Given the description of an element on the screen output the (x, y) to click on. 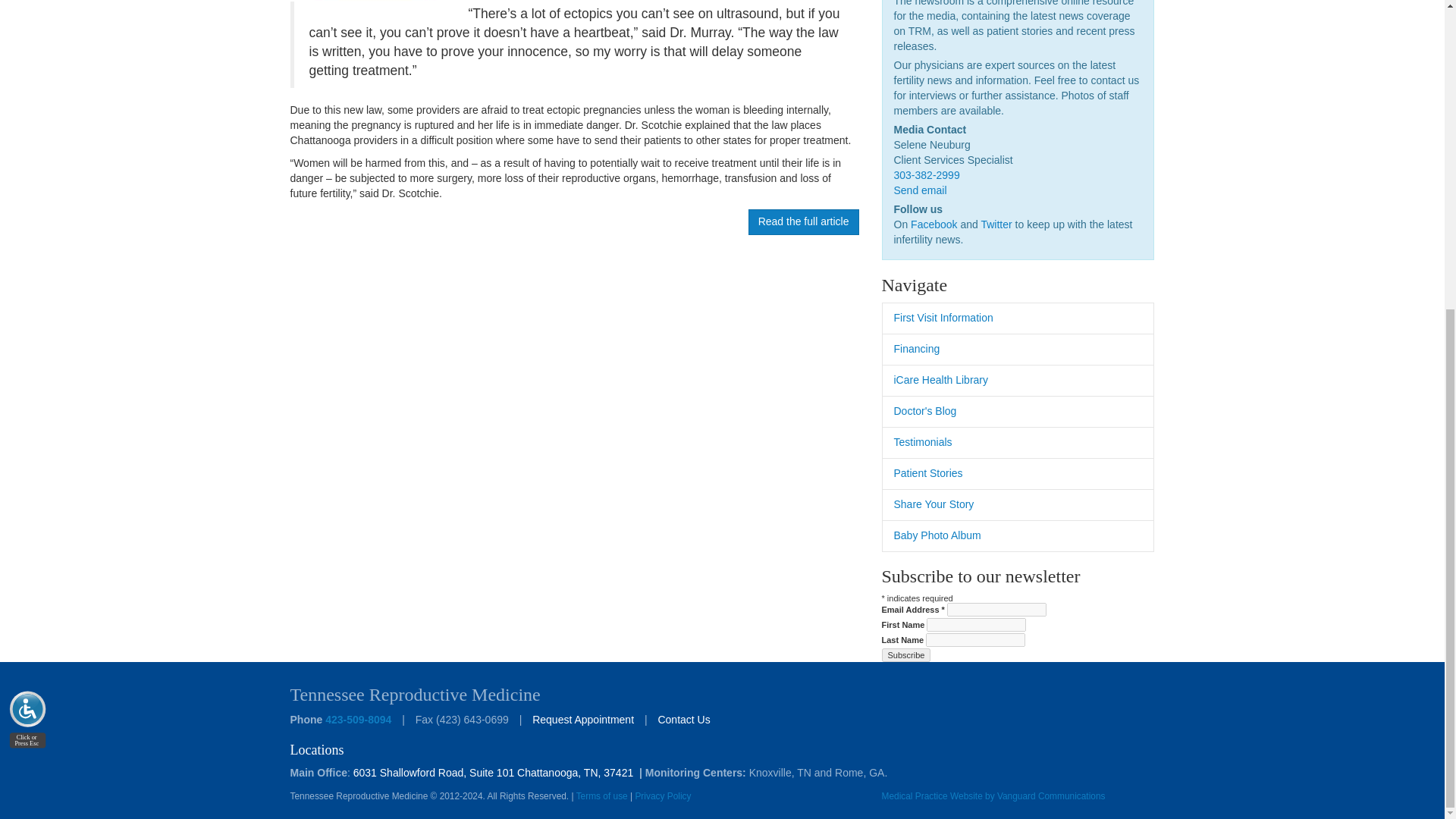
Subscribe (905, 654)
